Given the description of an element on the screen output the (x, y) to click on. 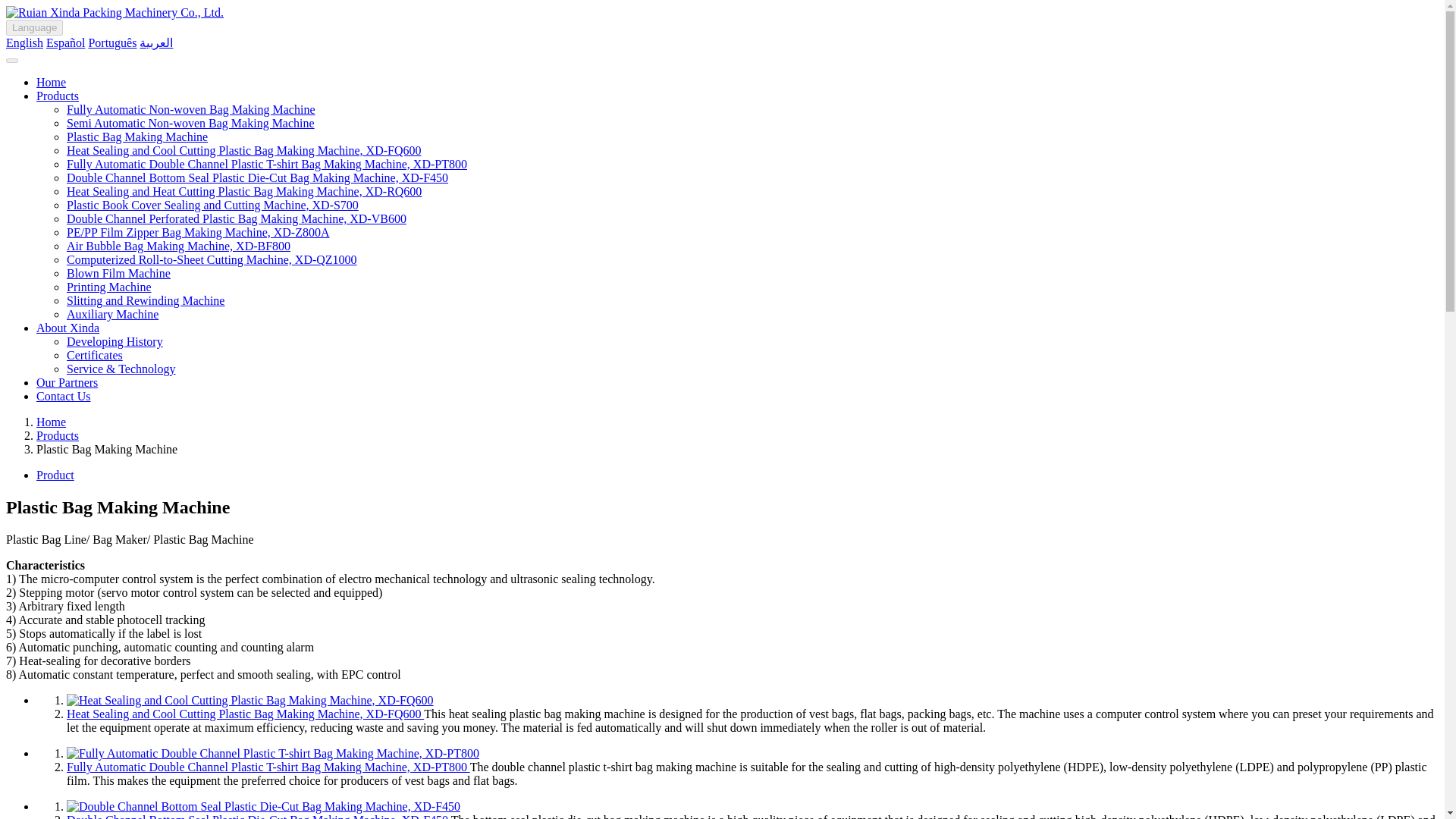
Blown Film Machine (118, 273)
About Xinda (67, 327)
Plastic Book Cover Sealing and Cutting Machine, XD-S700 (212, 205)
Certificates (94, 354)
Printing Machine (108, 286)
Semi Automatic Non-woven Bag Making Machine (190, 123)
English (24, 42)
